Given the description of an element on the screen output the (x, y) to click on. 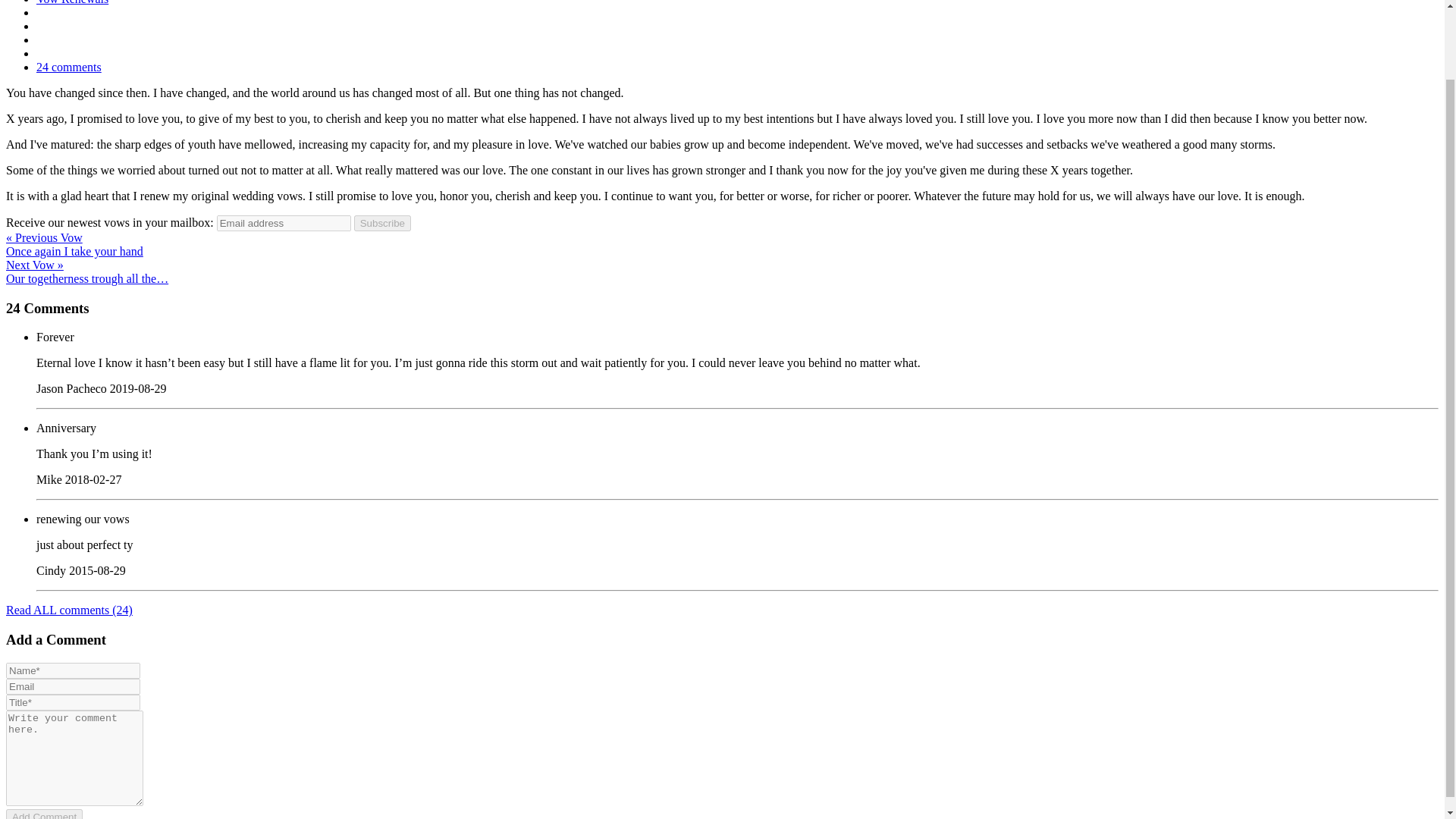
Vow Renewals (71, 2)
24 comments (68, 66)
Subscribe (381, 222)
